Given the description of an element on the screen output the (x, y) to click on. 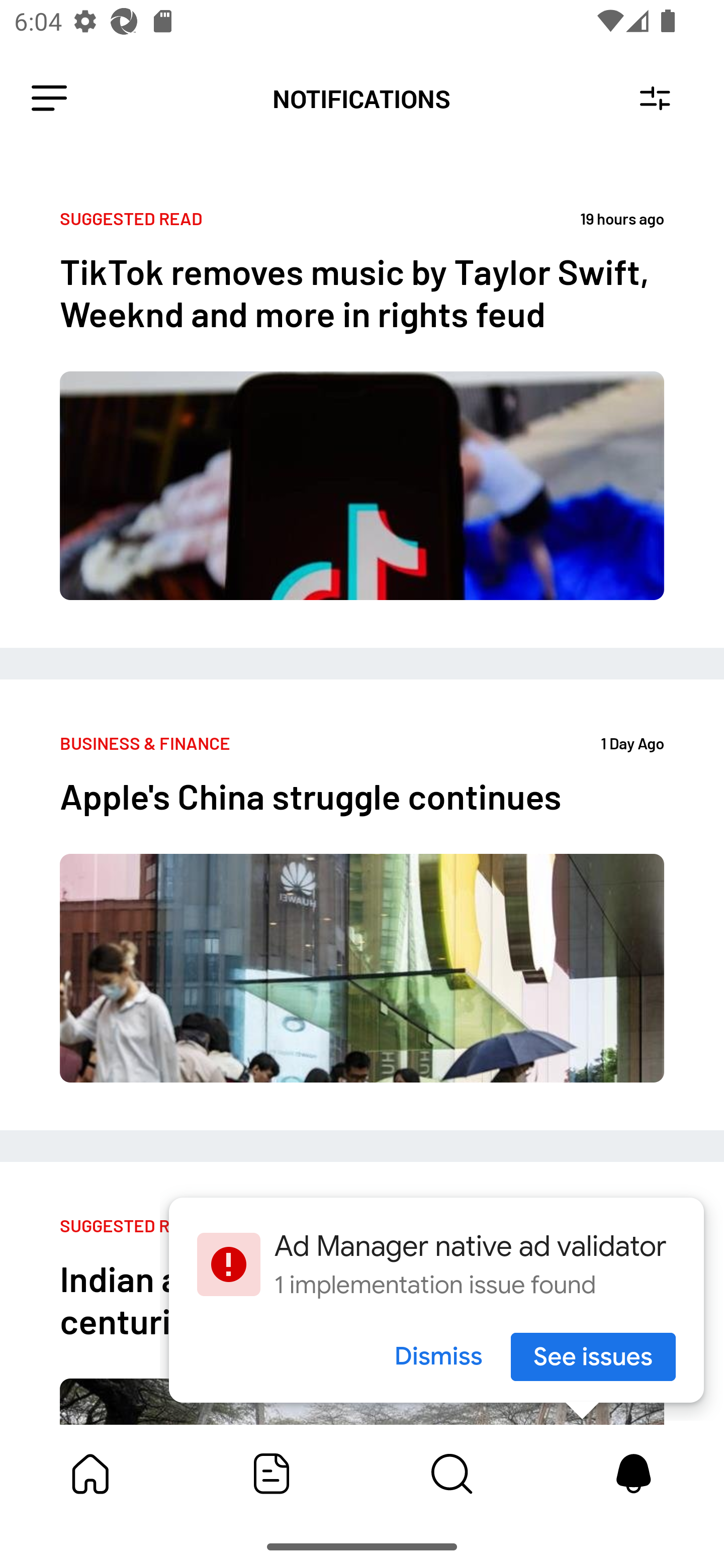
Leading Icon (49, 98)
Notification Settings (655, 98)
My Bundle (90, 1473)
Featured (271, 1473)
Content Store (452, 1473)
